Given the description of an element on the screen output the (x, y) to click on. 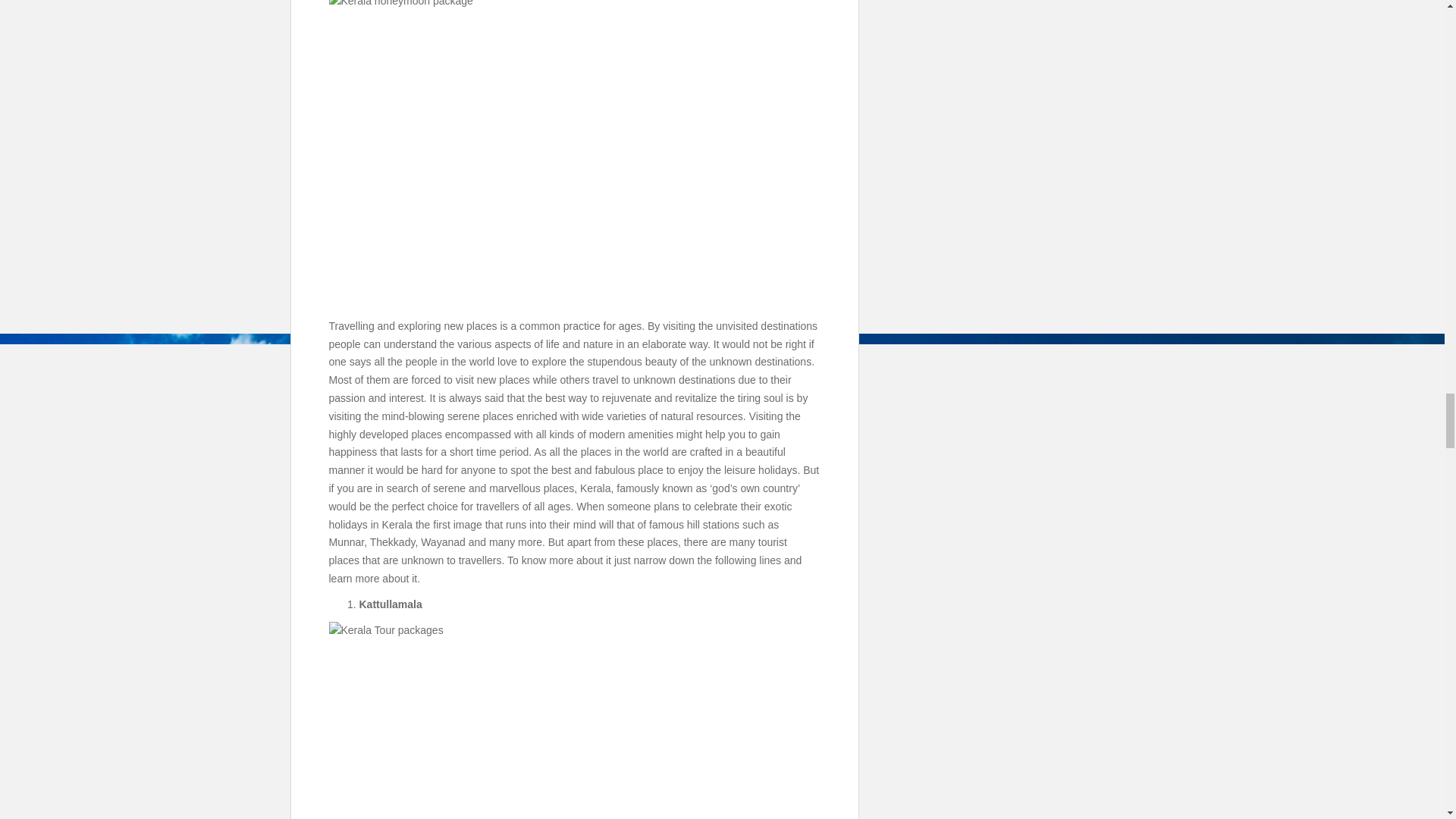
Kattullamala (575, 720)
